Given the description of an element on the screen output the (x, y) to click on. 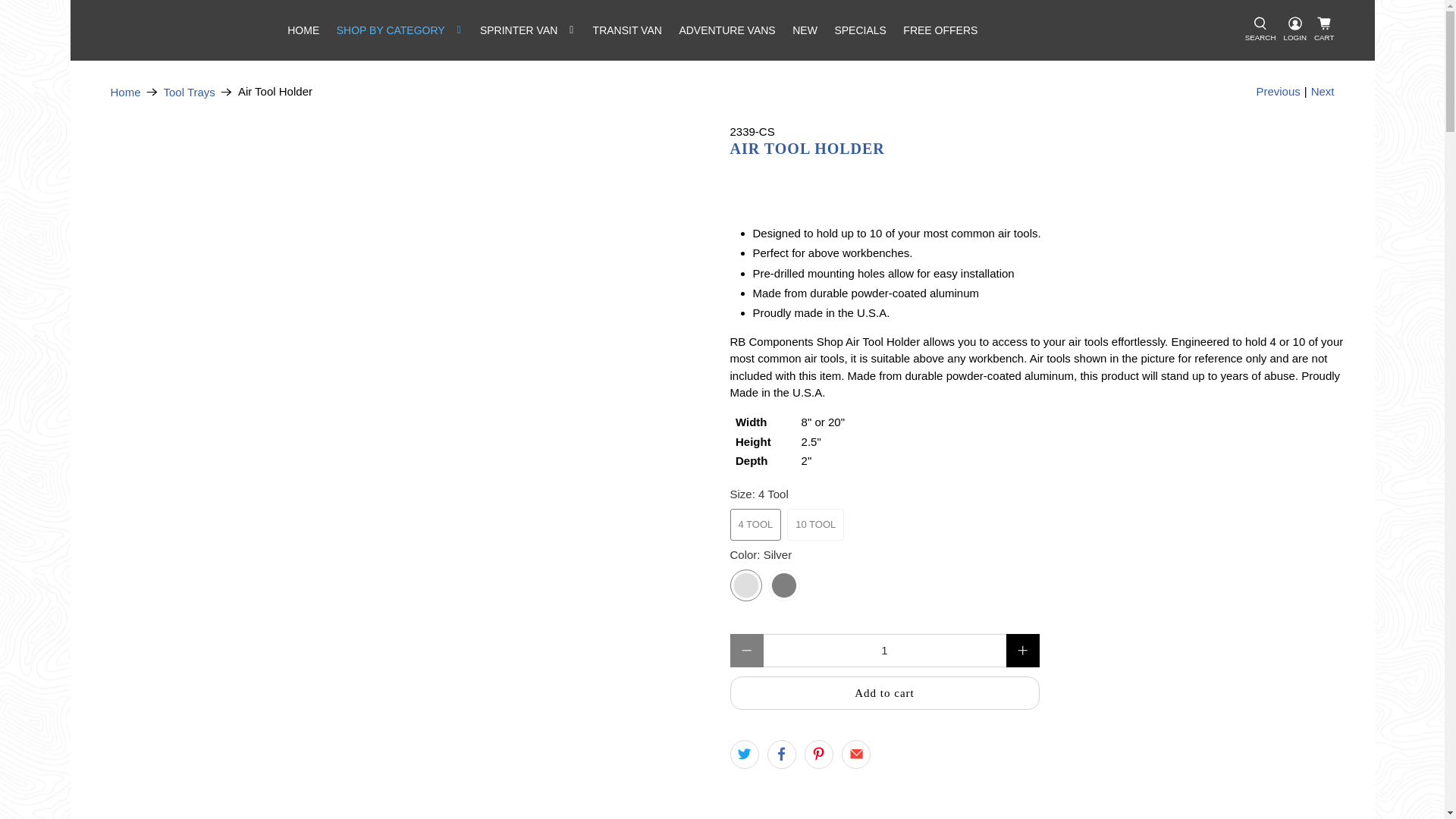
Next (1323, 91)
RB Components (125, 91)
Share this on Facebook (781, 754)
Tool Trays (189, 91)
1 (884, 650)
Share this on Pinterest (818, 754)
Email this to a friend (855, 754)
HOME (304, 30)
Share this on Twitter (743, 754)
SHOP BY CATEGORY (398, 30)
